Given the description of an element on the screen output the (x, y) to click on. 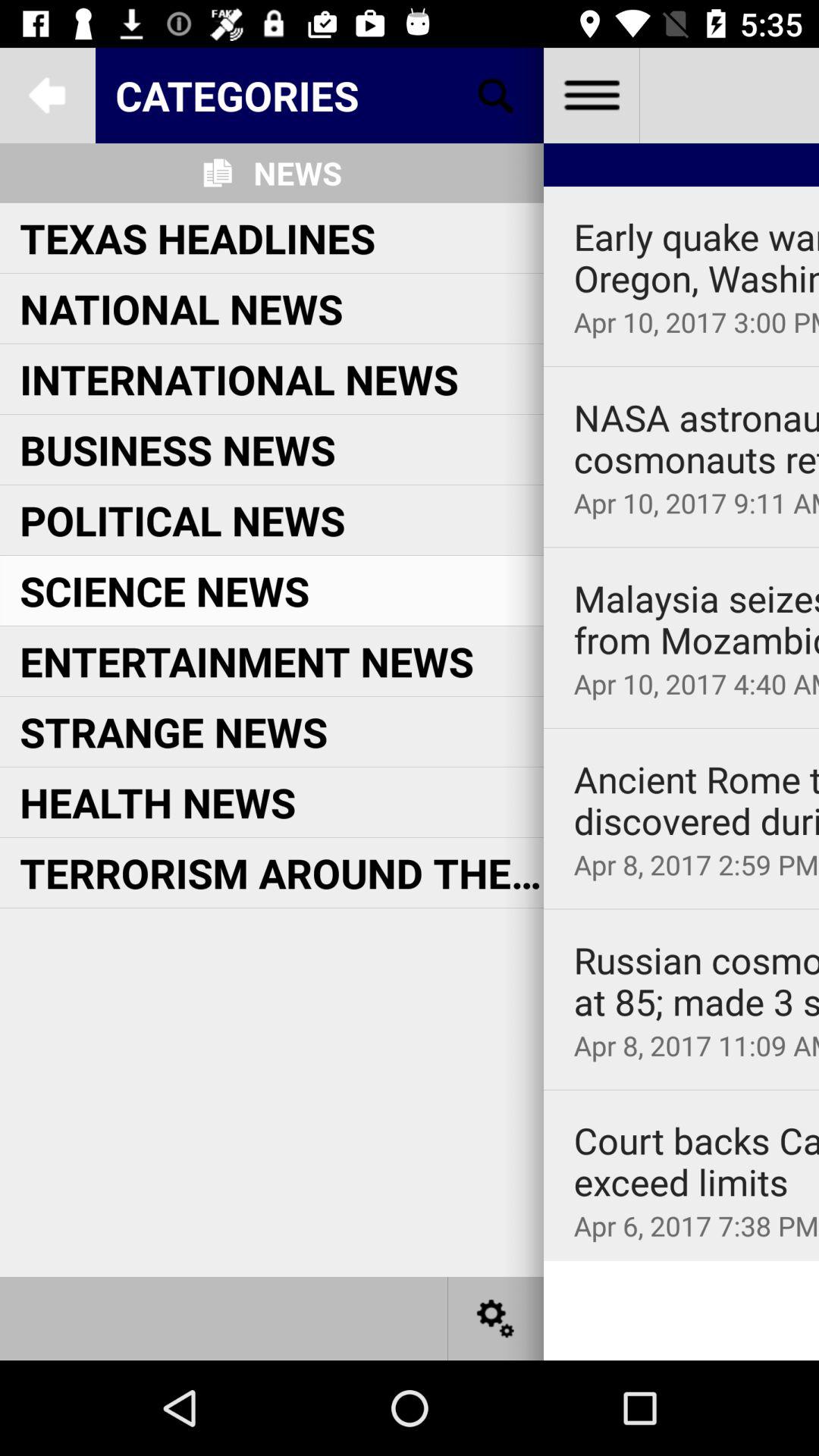
go to previous (47, 95)
